Given the description of an element on the screen output the (x, y) to click on. 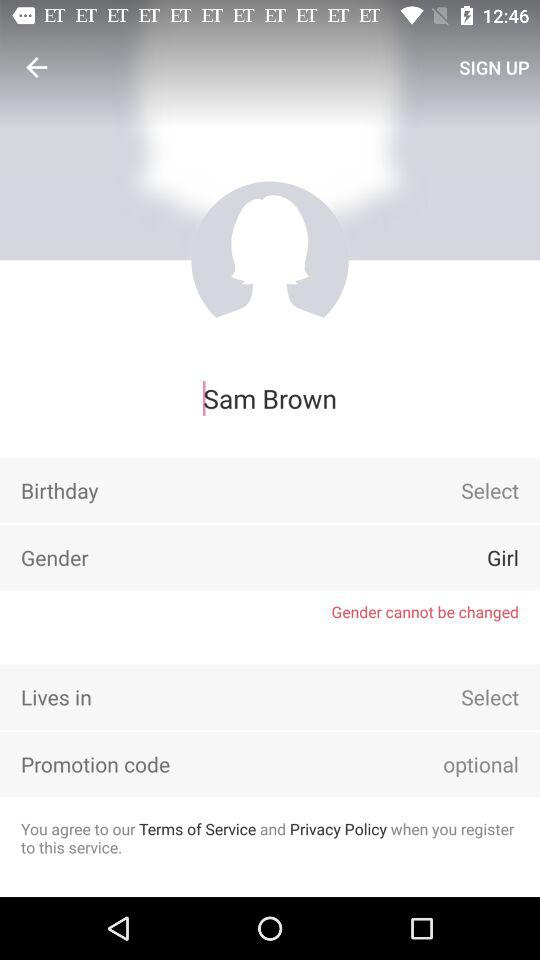
this element will allow you to choose a profile image (269, 260)
